Given the description of an element on the screen output the (x, y) to click on. 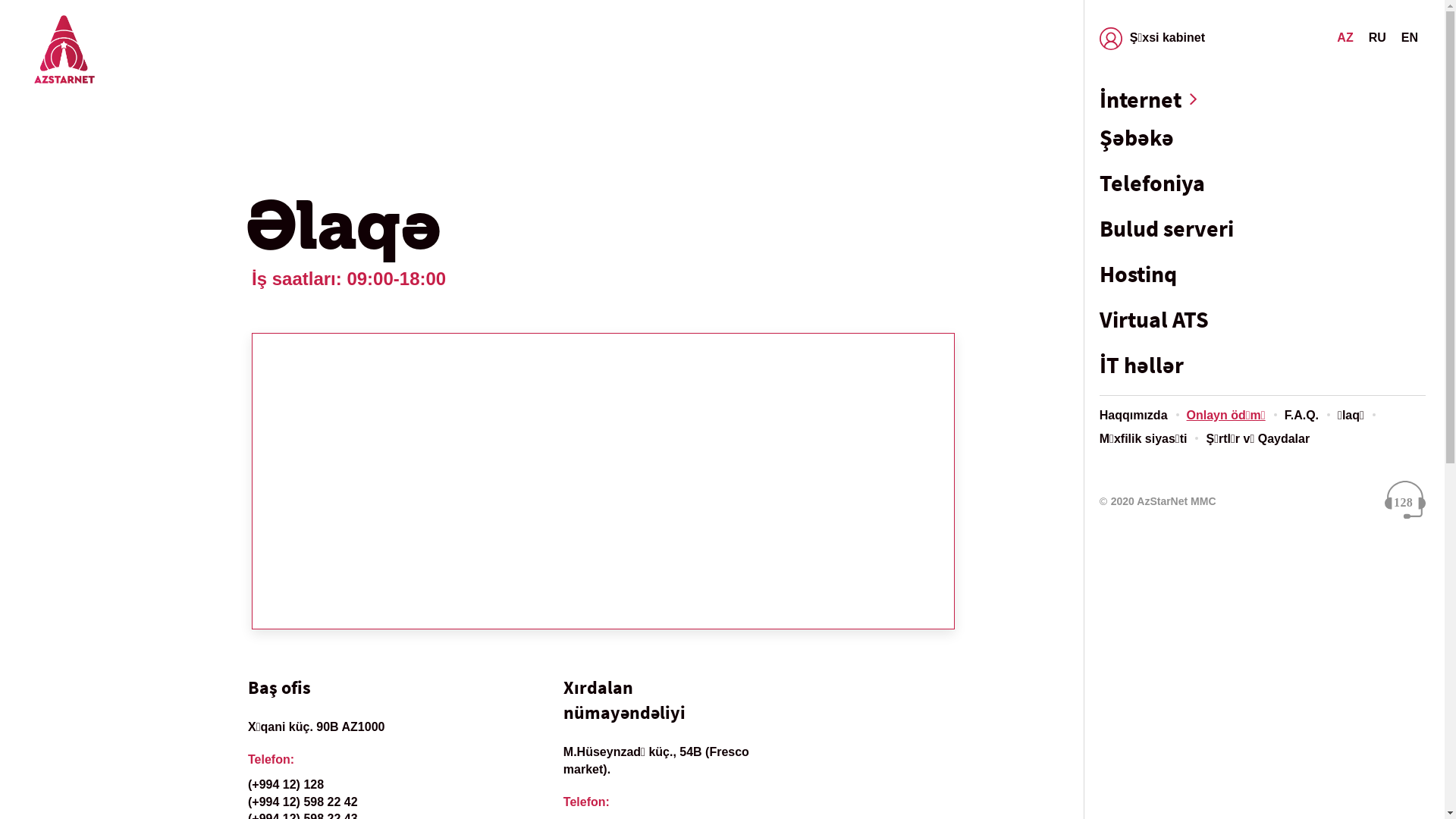
EN Element type: text (1409, 38)
(+994 12) 128 Element type: text (285, 784)
Telefoniya Element type: text (1262, 182)
128 Element type: text (1404, 501)
(+994 12) 598 22 42 Element type: text (302, 801)
RU Element type: text (1377, 38)
AZ Element type: text (1344, 38)
F.A.Q. Element type: text (1301, 414)
Hostinq Element type: text (1262, 273)
Bulud serveri Element type: text (1262, 228)
Virtual ATS Element type: text (1262, 319)
